Given the description of an element on the screen output the (x, y) to click on. 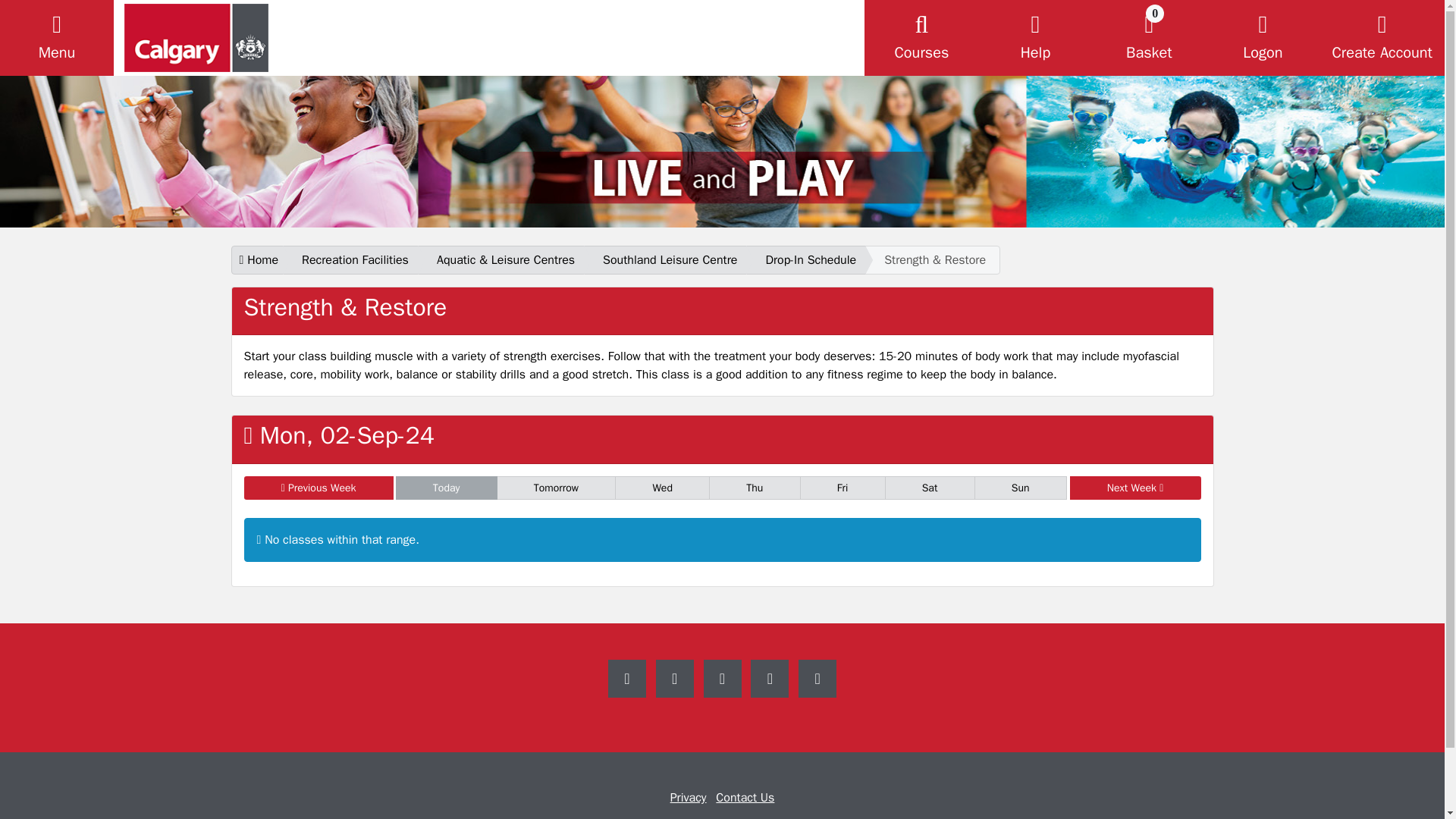
View Privacy (687, 797)
Menu (56, 38)
Help (1035, 38)
View Youtube Page (770, 678)
View Twitter Page (722, 678)
View LinkedIn Page (816, 678)
View Facebook Page (1148, 38)
View Contact Us (627, 678)
Logon (745, 797)
